Given the description of an element on the screen output the (x, y) to click on. 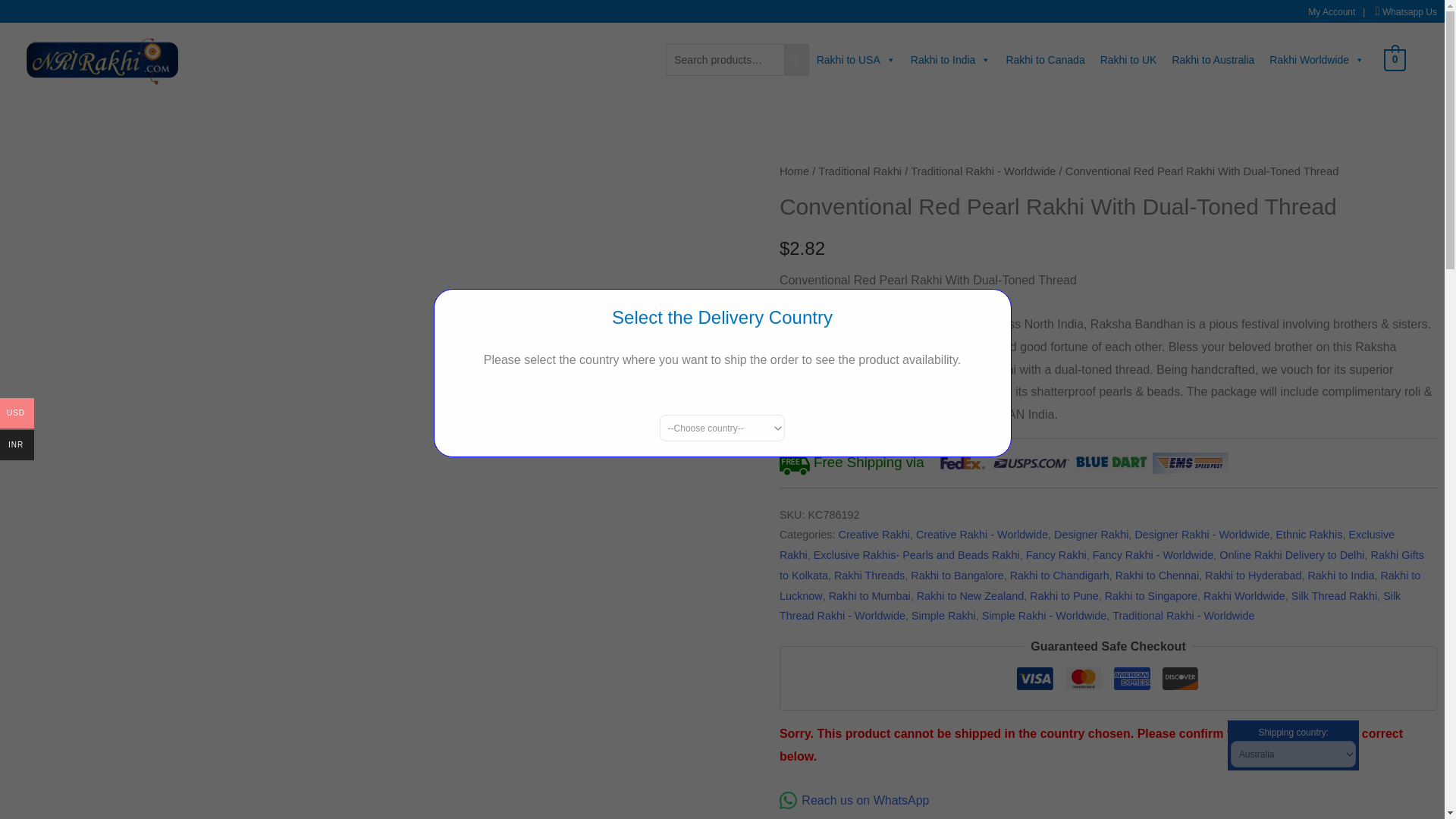
Rakhi to India (950, 60)
Conventional Red Pearl Rakhi With Dual-Toned Thread (101, 60)
Rakhi to USA (855, 60)
Whatsapp Us (1409, 11)
